Given the description of an element on the screen output the (x, y) to click on. 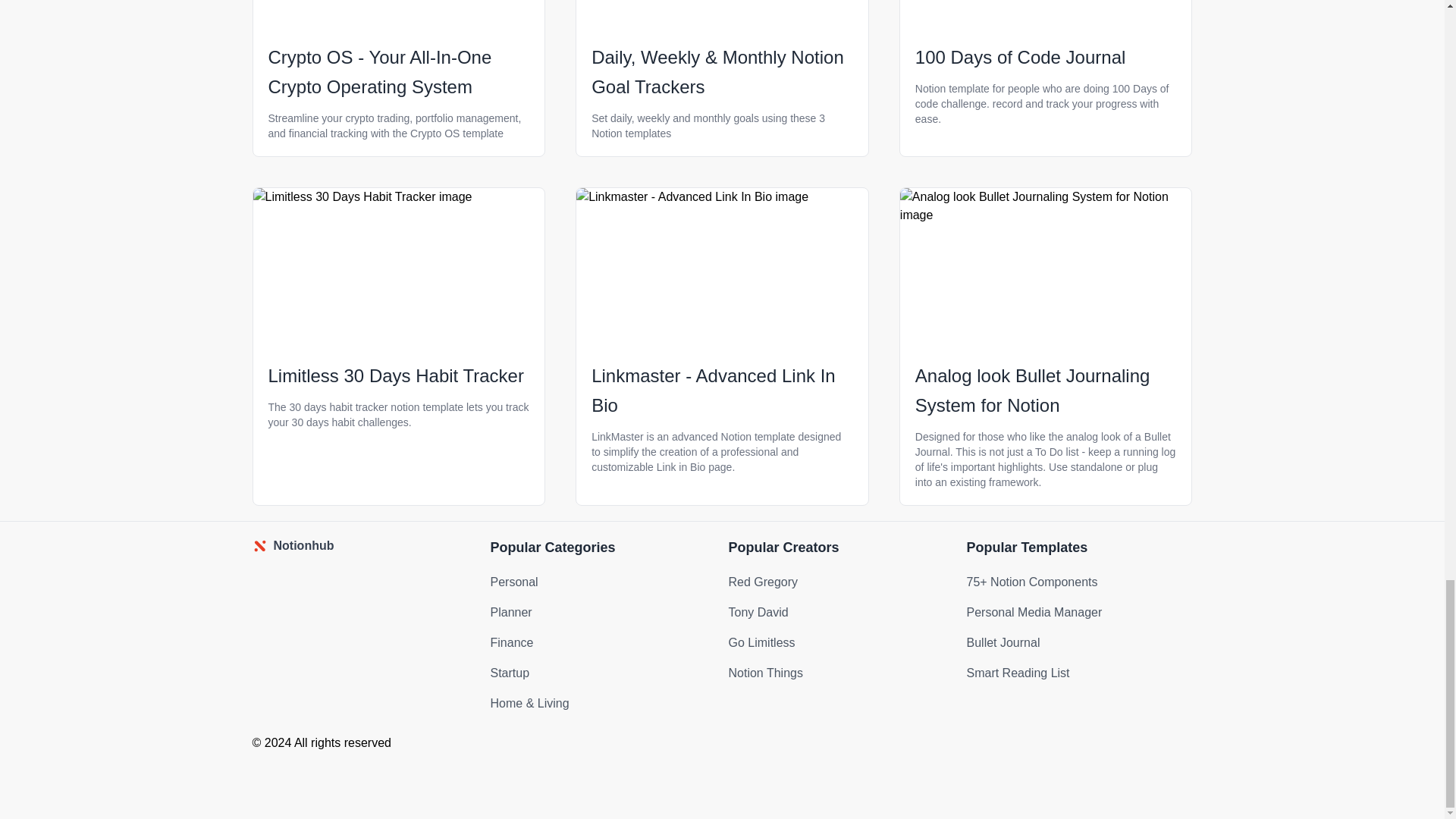
Startup (509, 672)
Go Limitless (761, 642)
Notionhub (364, 546)
Tony David (757, 612)
Finance (510, 642)
Personal (513, 581)
